Given the description of an element on the screen output the (x, y) to click on. 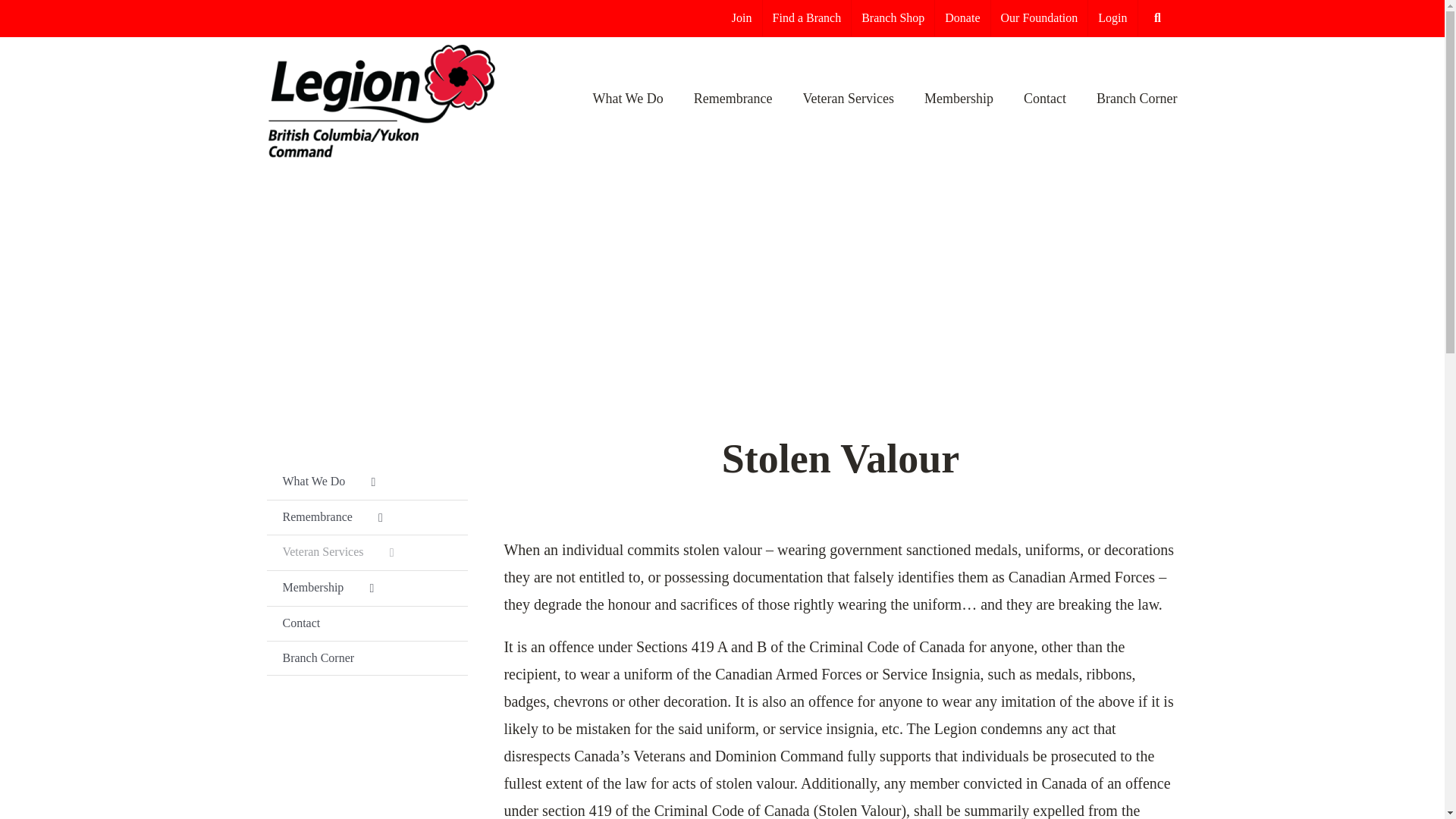
Find a Branch (806, 18)
Login (1112, 18)
Donate (962, 18)
Our Foundation (1038, 18)
Join (741, 18)
Branch Shop (892, 18)
